Given the description of an element on the screen output the (x, y) to click on. 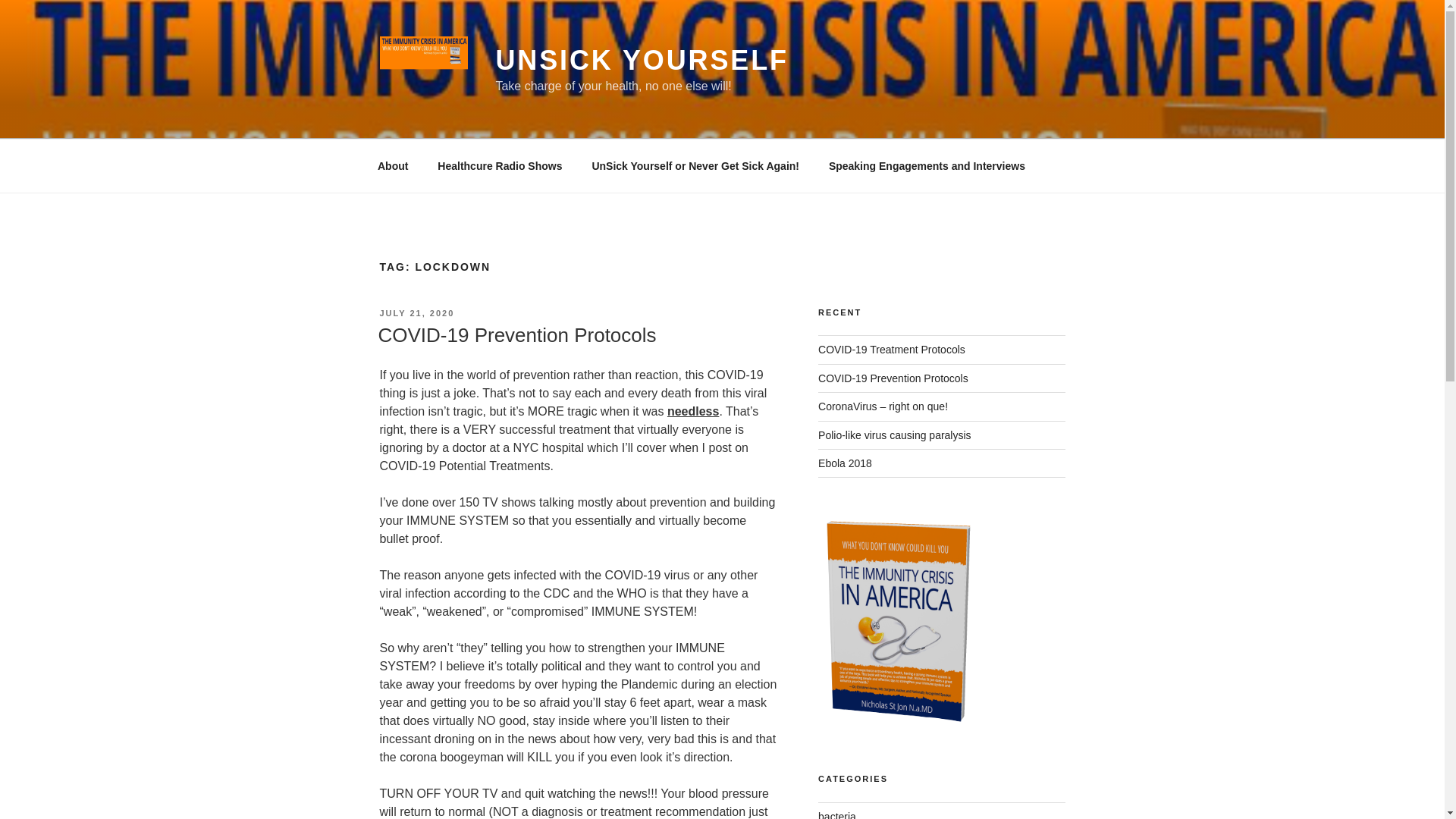
About (392, 165)
UnSick Yourself or Never Get Sick Again! (695, 165)
Speaking Engagements and Interviews (926, 165)
UNSICK YOURSELF (642, 60)
COVID-19 Treatment Protocols (891, 349)
Polio-like virus causing paralysis (894, 435)
bacteria (837, 814)
COVID-19 Prevention Protocols (893, 378)
COVID-19 Prevention Protocols (516, 334)
Ebola 2018 (845, 463)
Healthcure Radio Shows (500, 165)
JULY 21, 2020 (416, 312)
